Given the description of an element on the screen output the (x, y) to click on. 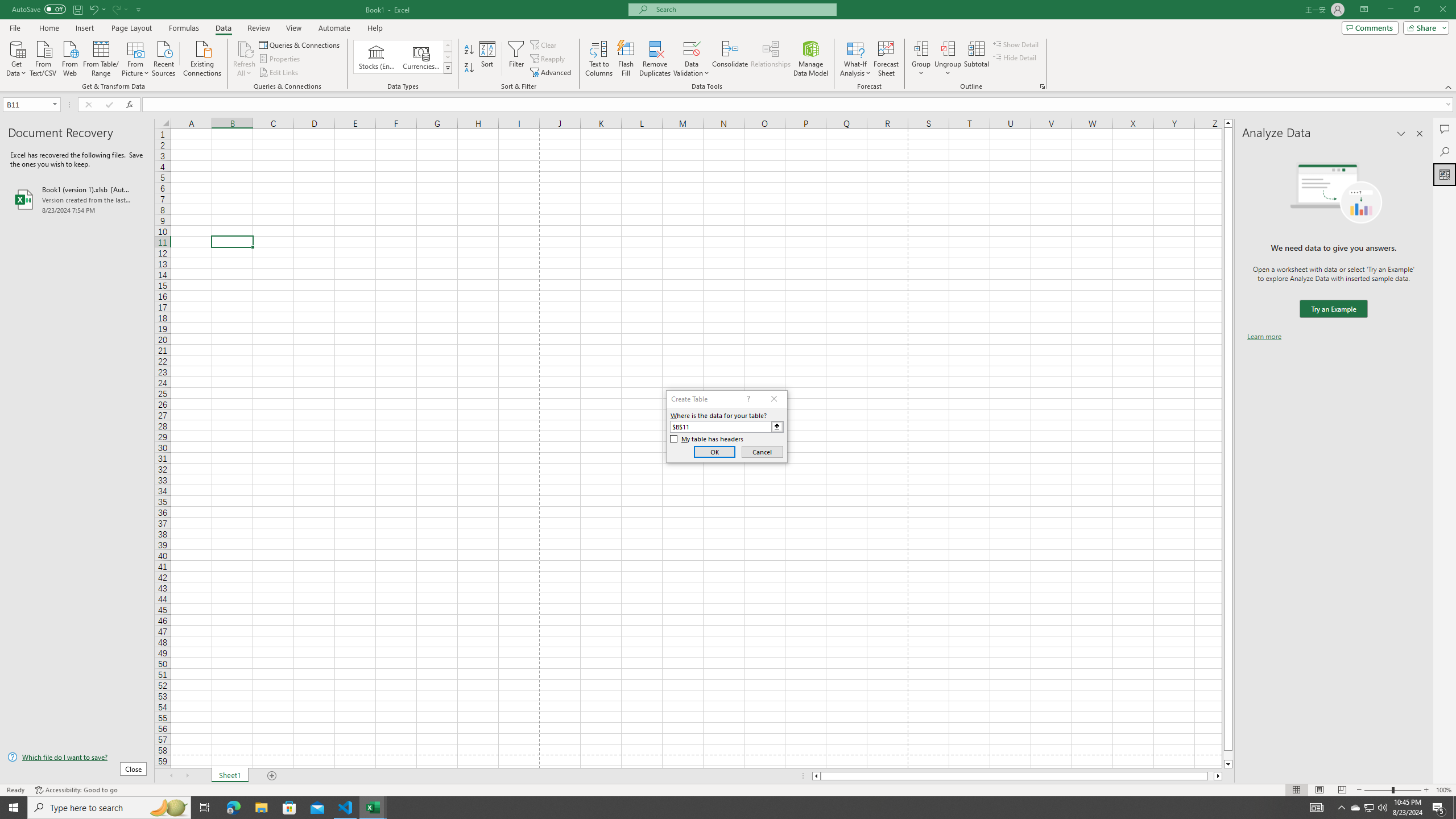
Formula Bar (799, 104)
Manage Data Model (810, 58)
Show Detail (1016, 44)
Edit Links (279, 72)
From Table/Range (100, 57)
From Web (69, 57)
